Given the description of an element on the screen output the (x, y) to click on. 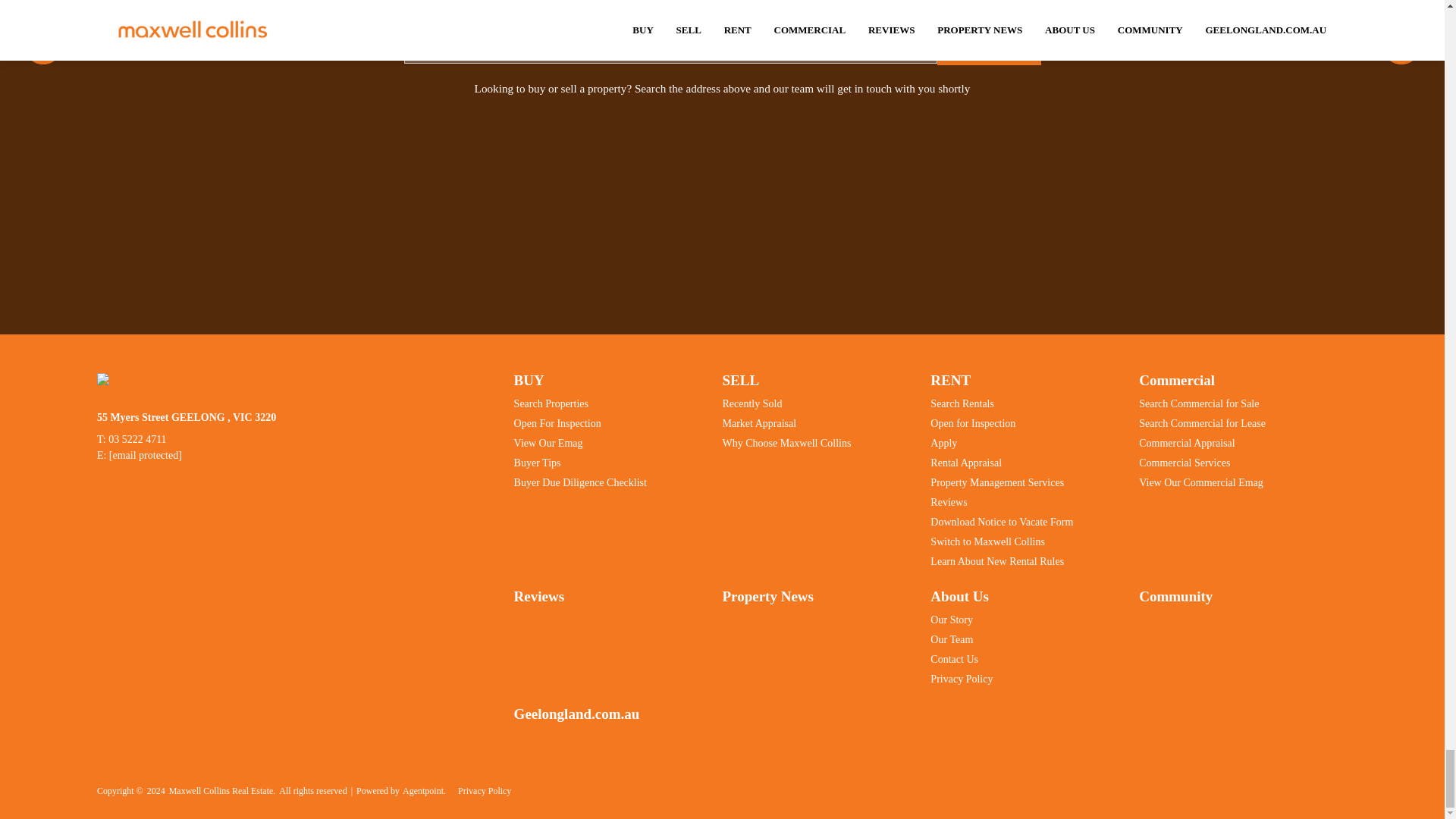
FIND OUT (989, 46)
